Given the description of an element on the screen output the (x, y) to click on. 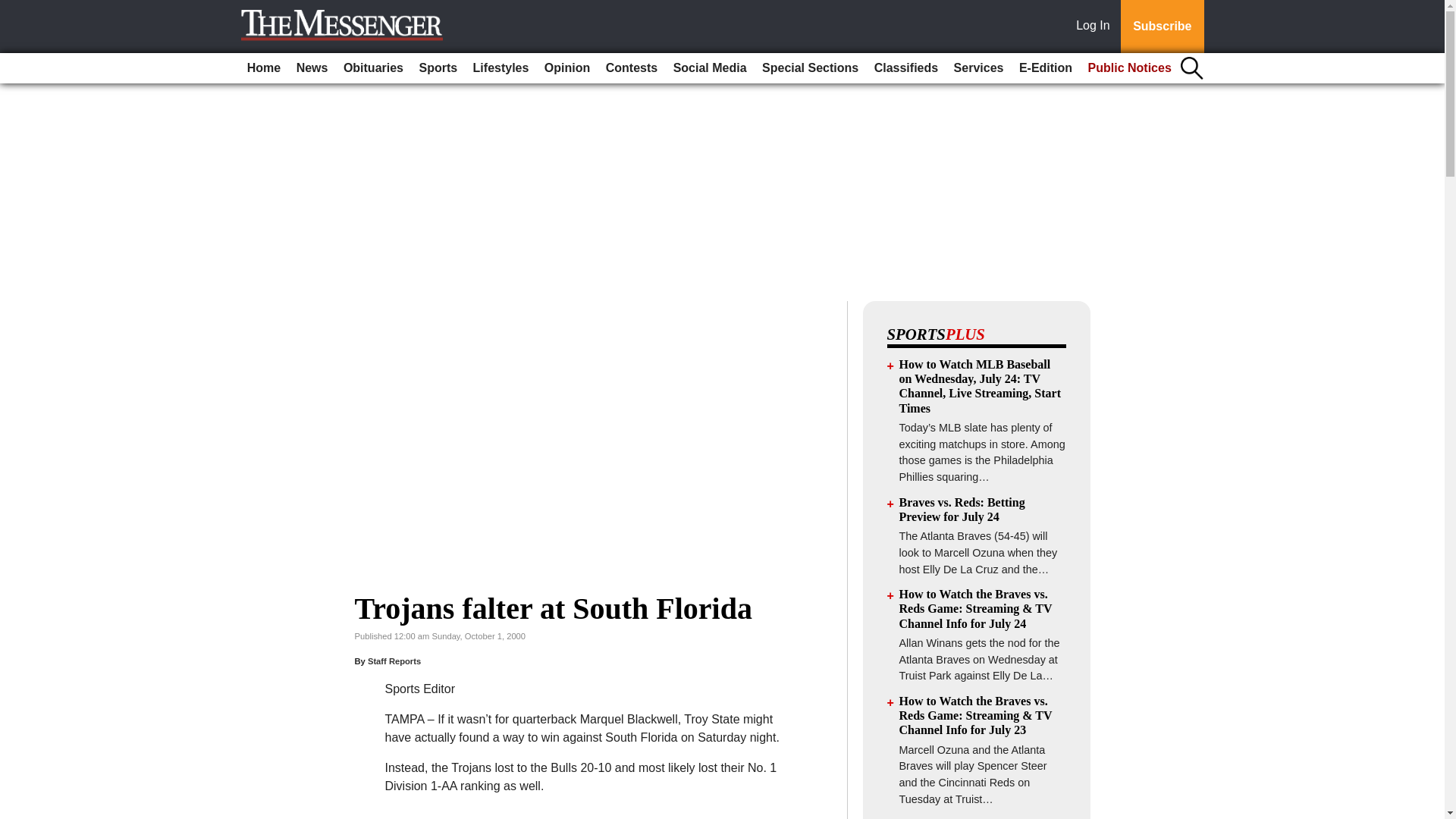
Special Sections (809, 68)
E-Edition (1045, 68)
Home (263, 68)
Obituaries (373, 68)
Social Media (709, 68)
Contests (631, 68)
News (311, 68)
Lifestyles (501, 68)
Classifieds (905, 68)
Opinion (566, 68)
Subscribe (1162, 26)
Services (978, 68)
Sports (437, 68)
Log In (1095, 26)
